Given the description of an element on the screen output the (x, y) to click on. 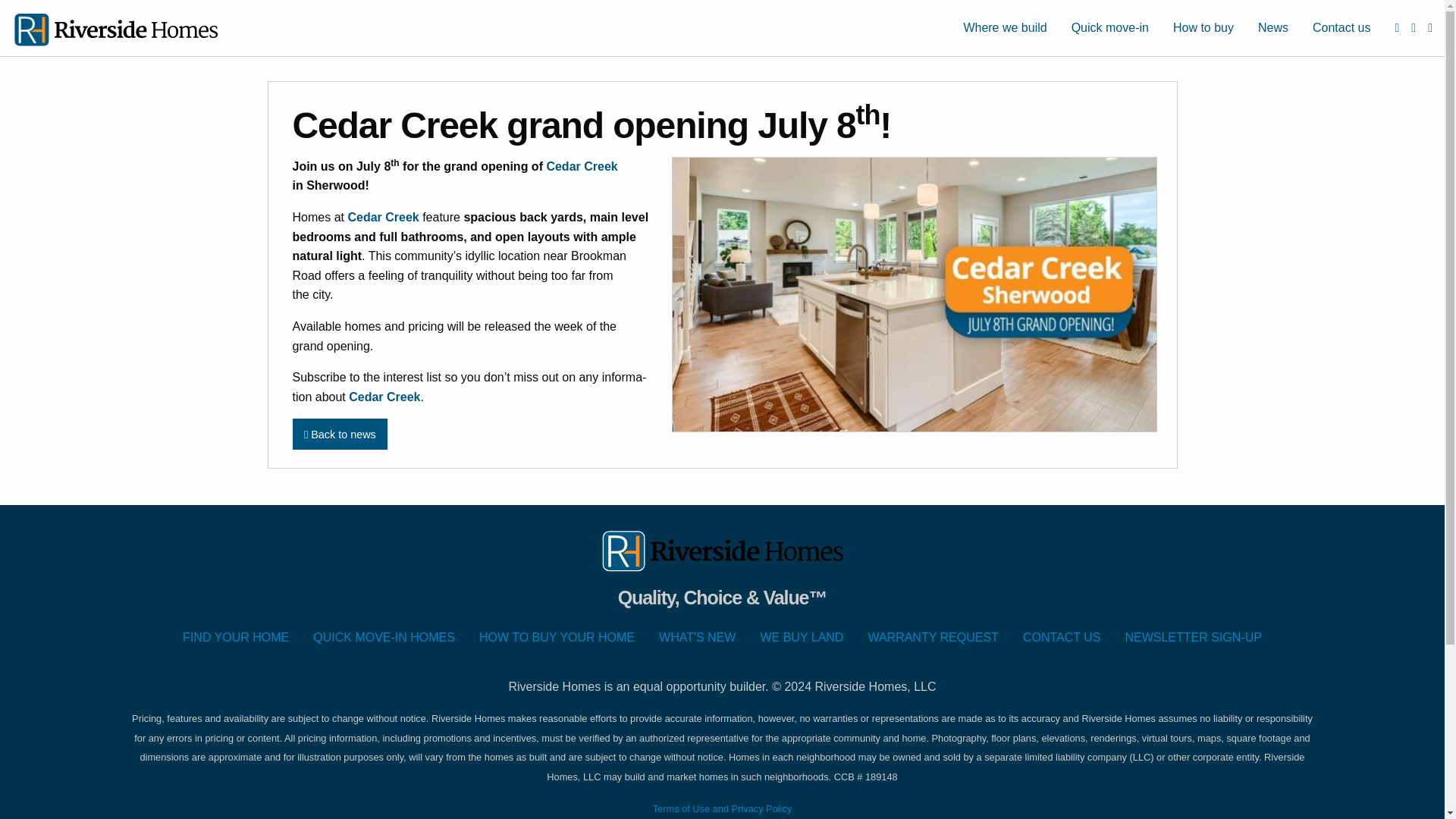
WHAT'S NEW (697, 637)
Cedar Creek (383, 216)
Terms of Use and Privacy Policy (722, 808)
Cedar Creek (384, 396)
CONTACT US (1061, 637)
How to buy (1203, 27)
HOW TO BUY YOUR HOME (556, 637)
Cedar Creek (581, 165)
WARRANTY REQUEST (933, 637)
Where we build (1004, 27)
Quick move-in (1109, 27)
News (1273, 27)
NEWSLETTER SIGN-UP (1192, 637)
Contact us (1340, 27)
WE BUY LAND (802, 637)
